Given the description of an element on the screen output the (x, y) to click on. 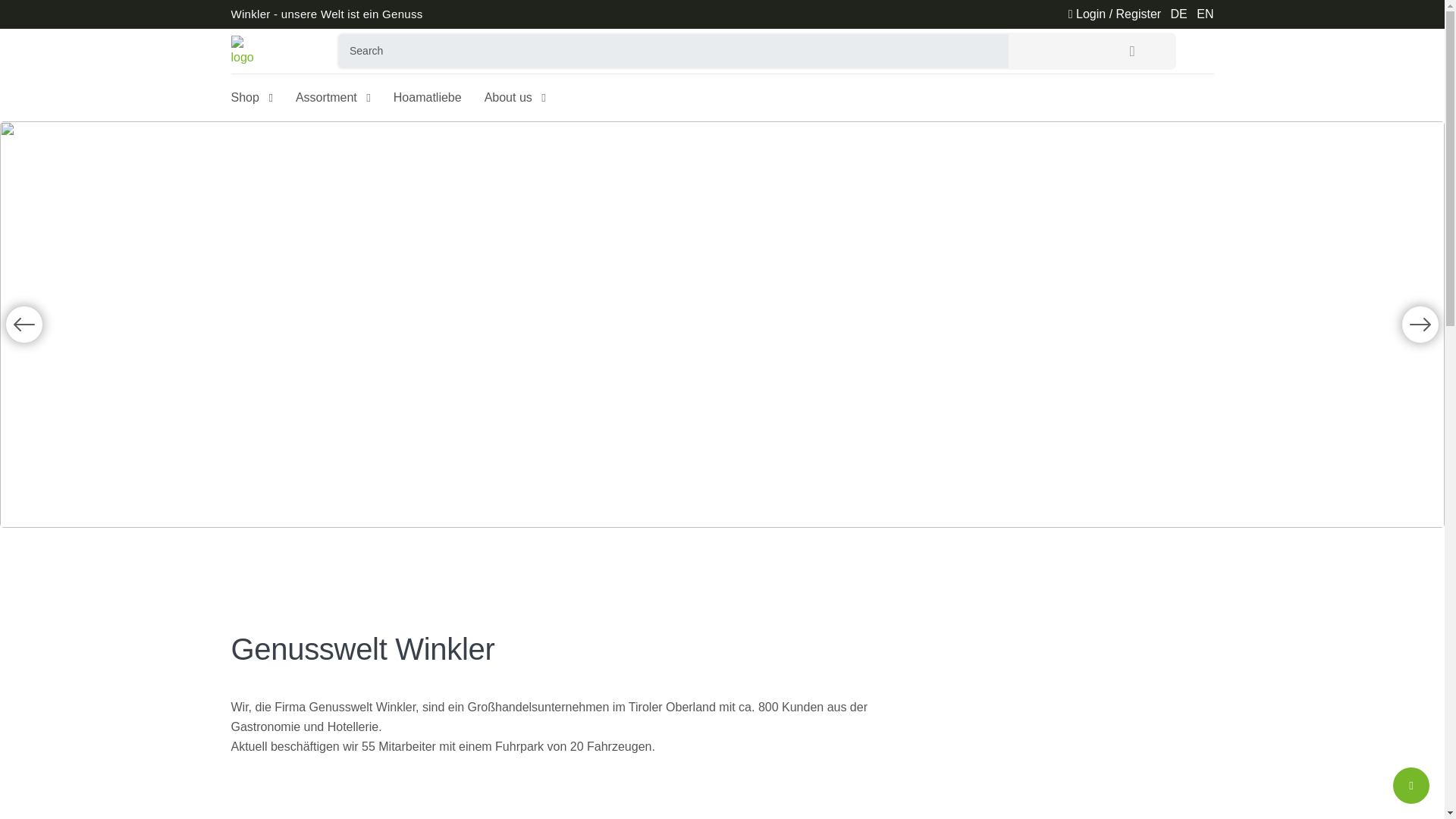
Assortment (333, 97)
Search (1131, 50)
Hoamatliebe (427, 97)
Login (1114, 14)
Search (673, 50)
About us (515, 97)
